Given the description of an element on the screen output the (x, y) to click on. 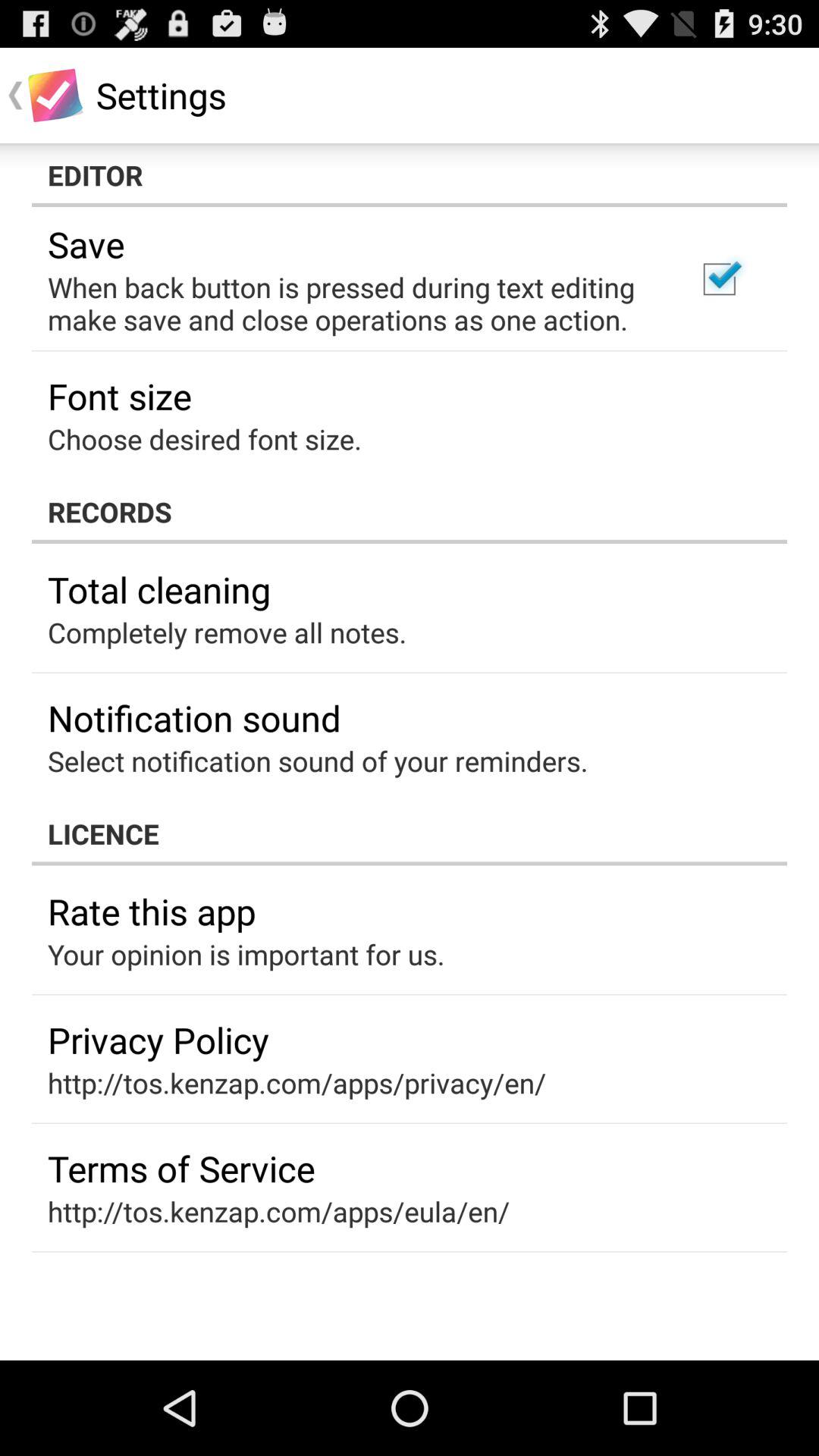
jump to the editor icon (409, 175)
